Given the description of an element on the screen output the (x, y) to click on. 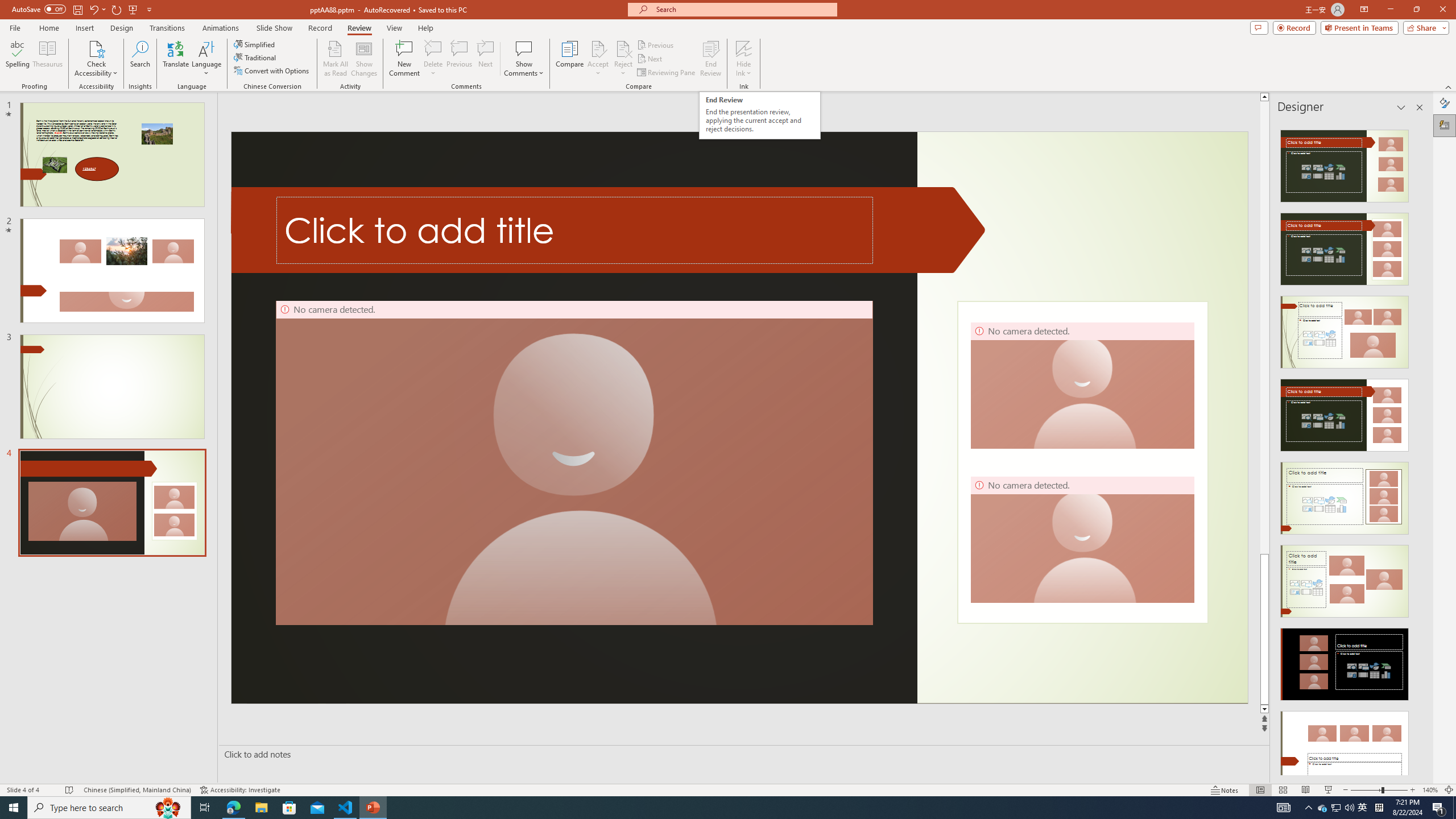
Zoom 140% (1430, 790)
